Given the description of an element on the screen output the (x, y) to click on. 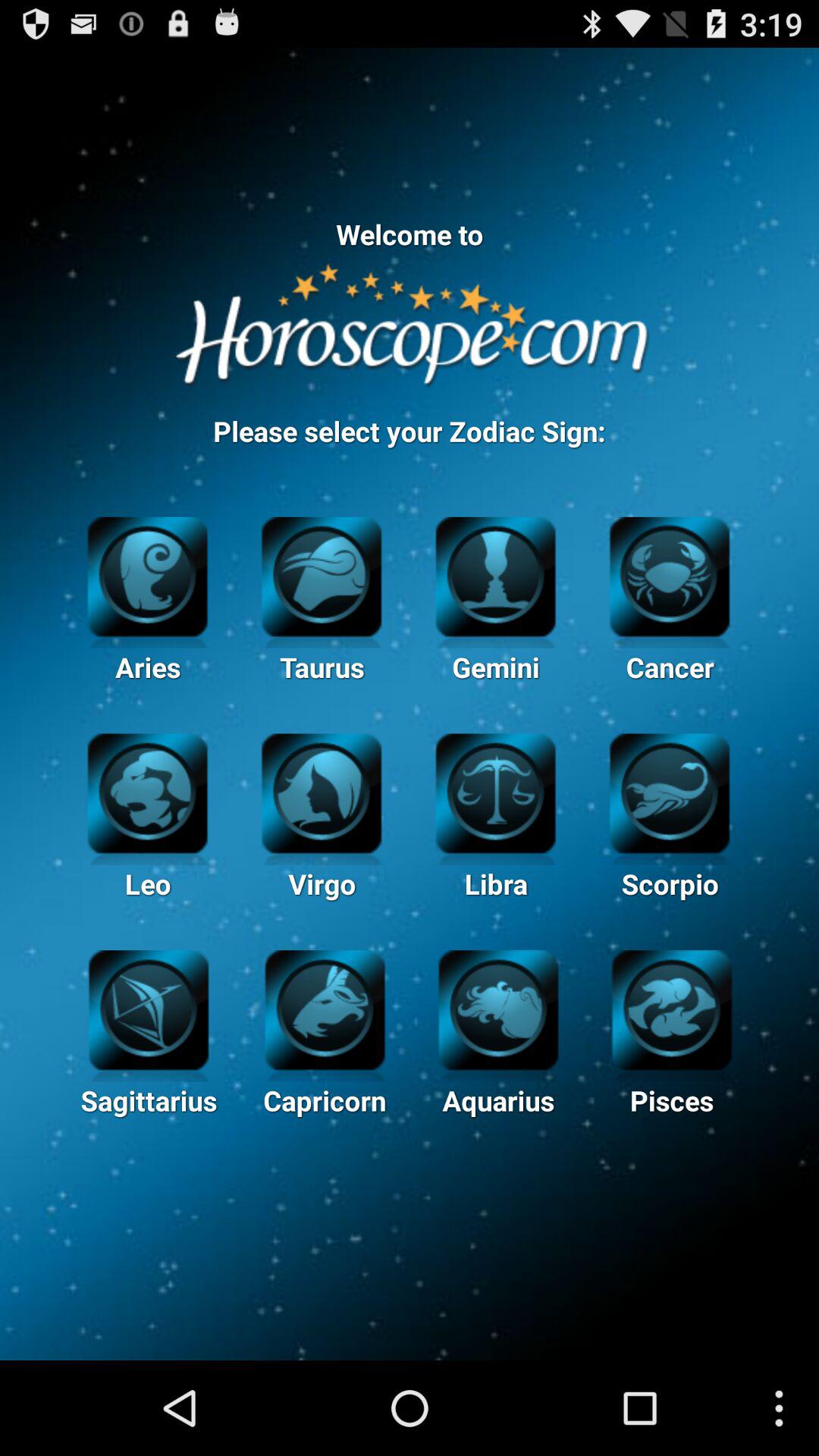
select the aries (147, 574)
